Given the description of an element on the screen output the (x, y) to click on. 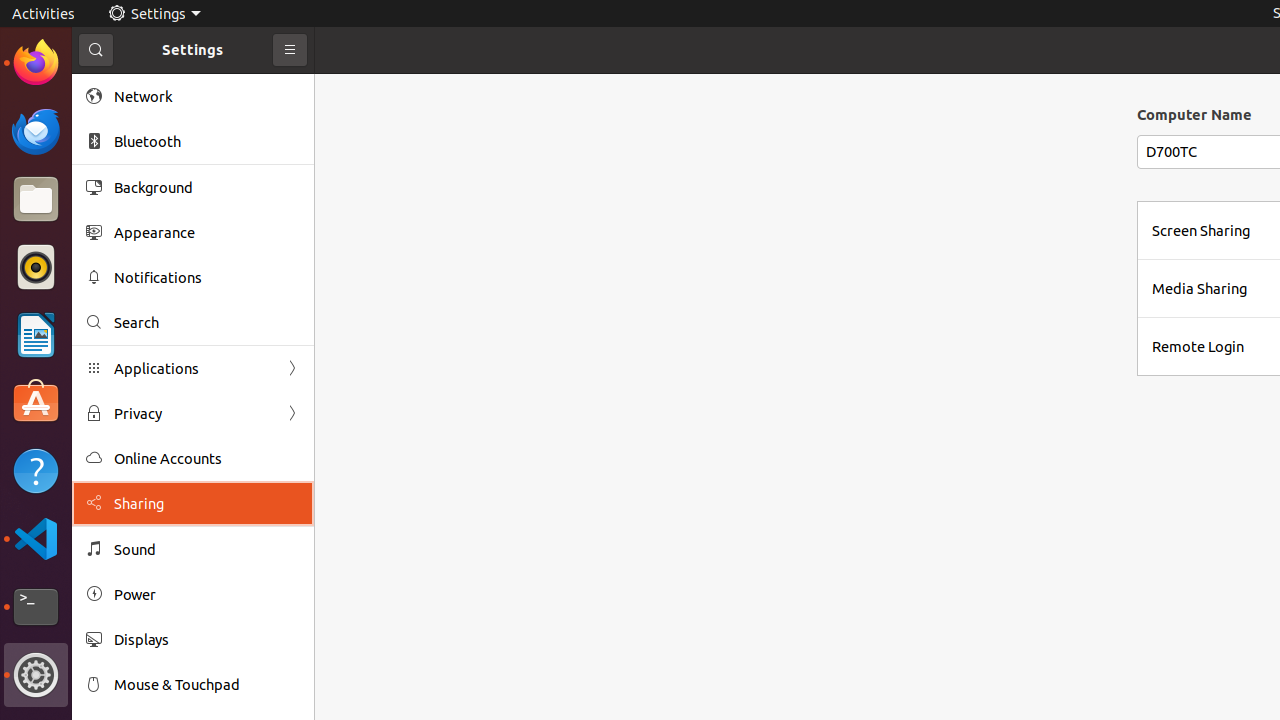
Terminal Element type: push-button (36, 607)
Activities Element type: label (43, 13)
Online Accounts Element type: label (207, 458)
Applications Element type: label (193, 368)
Screen Sharing Element type: label (1201, 230)
